Given the description of an element on the screen output the (x, y) to click on. 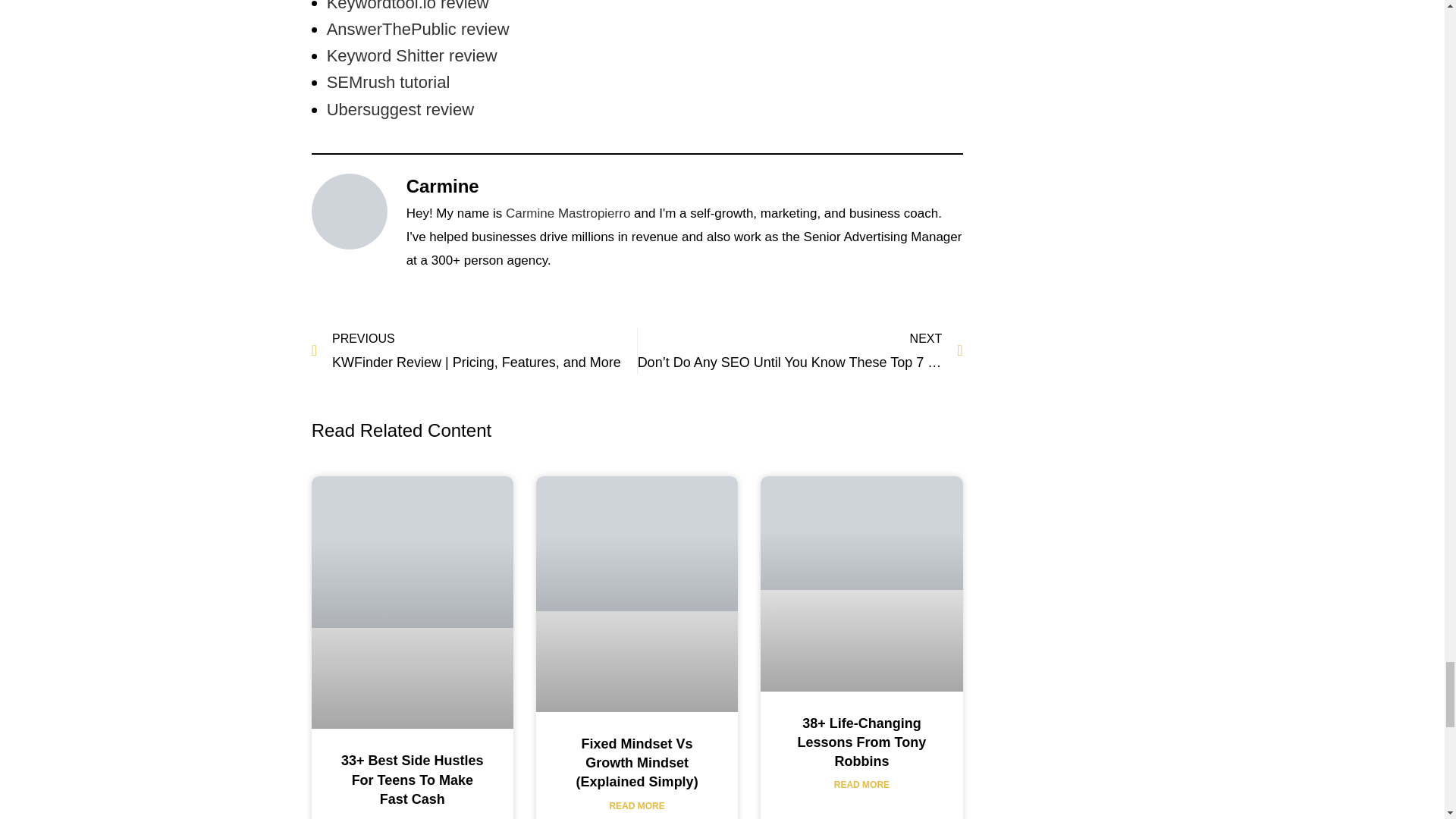
Ubersuggest review (400, 108)
Keyword Shitter review (411, 55)
AnswerThePublic review (417, 28)
SEMrush tutorial (387, 81)
Keywordtool.io review (407, 6)
